Given the description of an element on the screen output the (x, y) to click on. 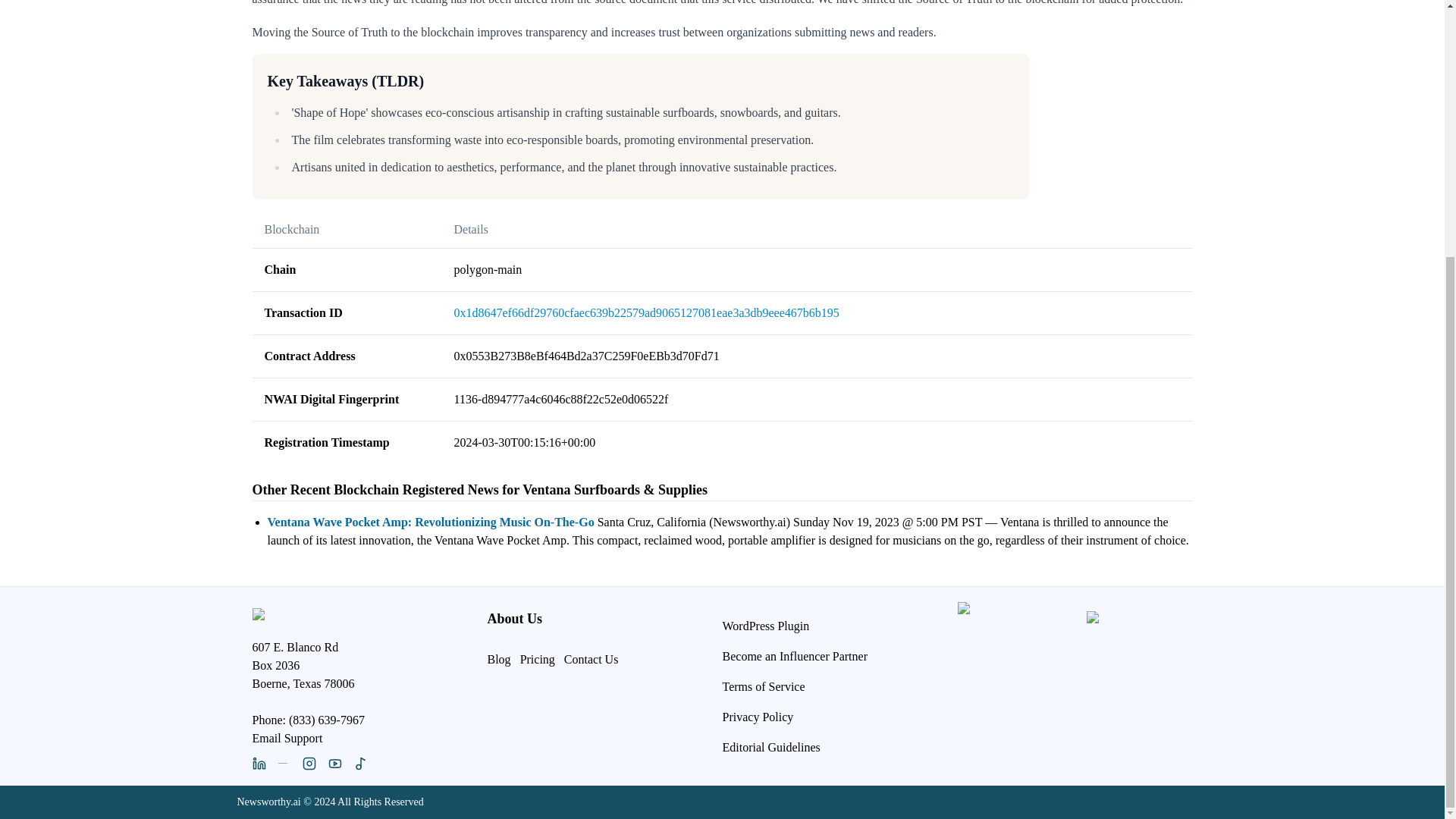
Newsworthy on TikTok (359, 763)
Ventana Wave Pocket Amp: Revolutionizing Music On-The-Go (430, 521)
WordPress Plugin (765, 629)
Newsworthy on Instagram (308, 763)
Privacy Policy (757, 716)
Newsworthy on Youtube (333, 763)
Pricing (536, 658)
Email Support (286, 737)
Become an Influencer Partner (794, 655)
Terms of Service (763, 685)
Contact Us (591, 658)
Newsworthy.ai Reviews (1135, 655)
Editorial Guidelines (770, 746)
Newsworthy on LinkedIn (257, 763)
